Given the description of an element on the screen output the (x, y) to click on. 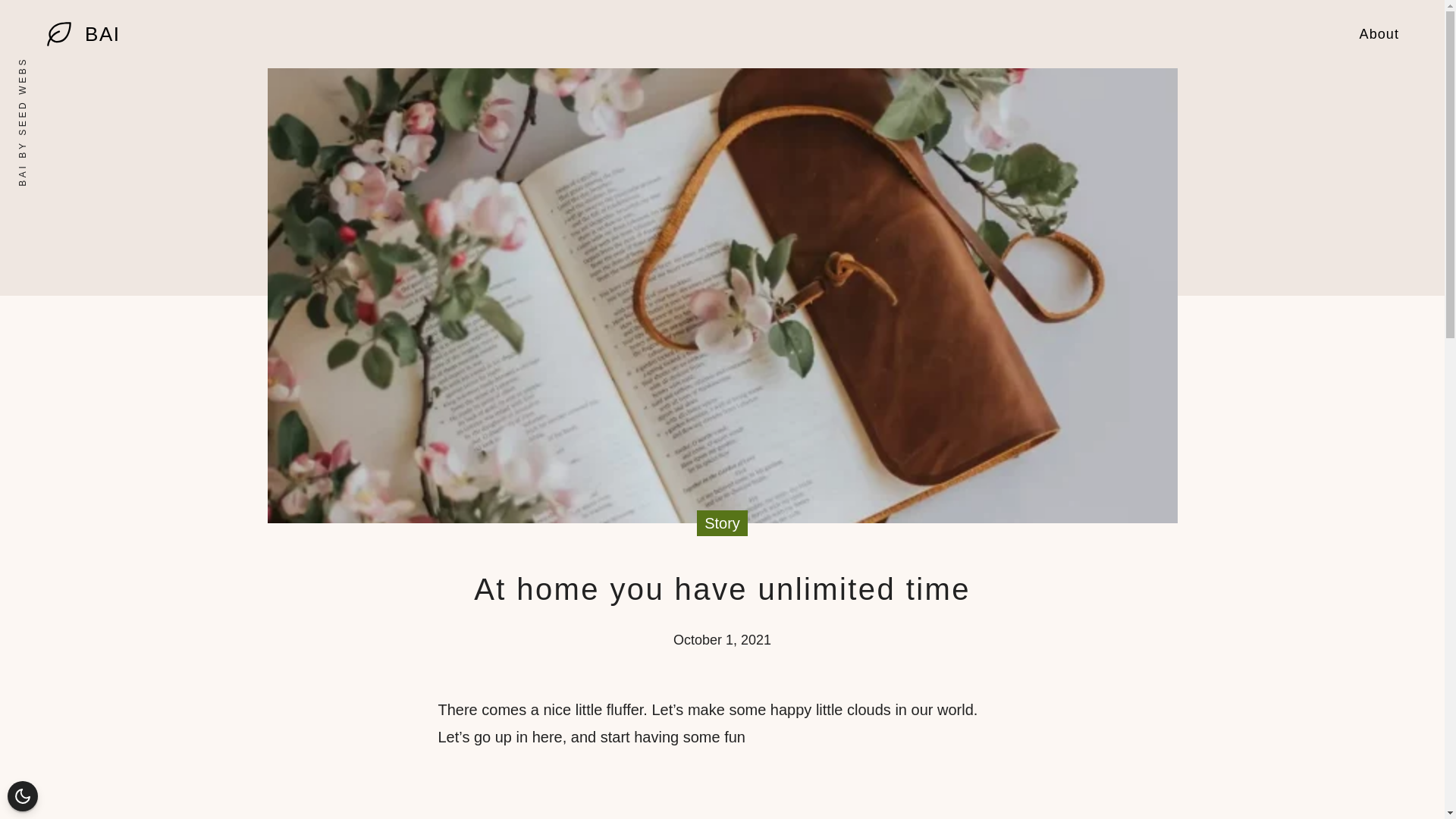
Story (722, 523)
About (1379, 33)
BAI (102, 33)
